Given the description of an element on the screen output the (x, y) to click on. 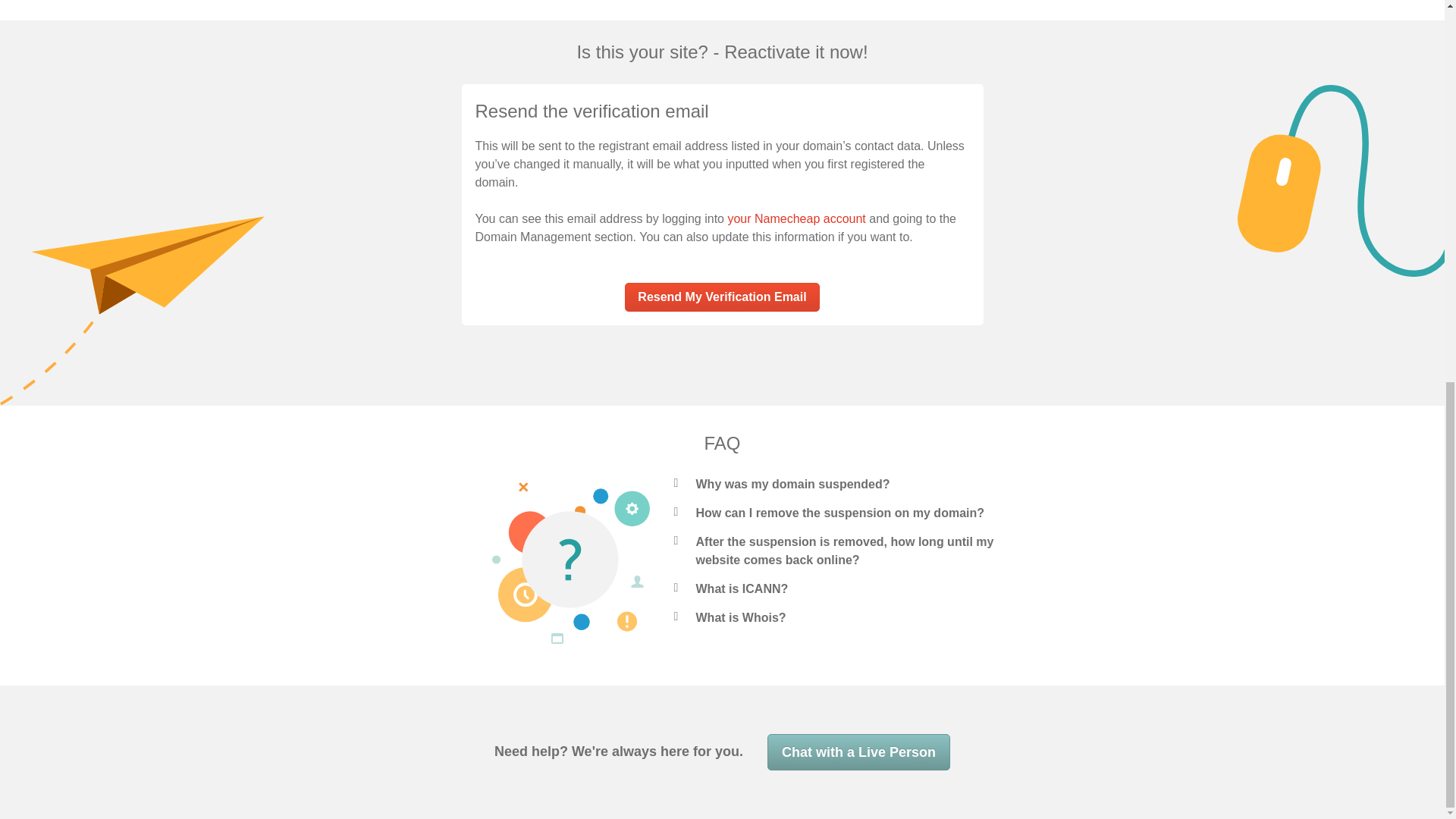
Resend My Verification Email (721, 297)
your Namecheap account (795, 218)
Chat with a Live Person (858, 751)
